Given the description of an element on the screen output the (x, y) to click on. 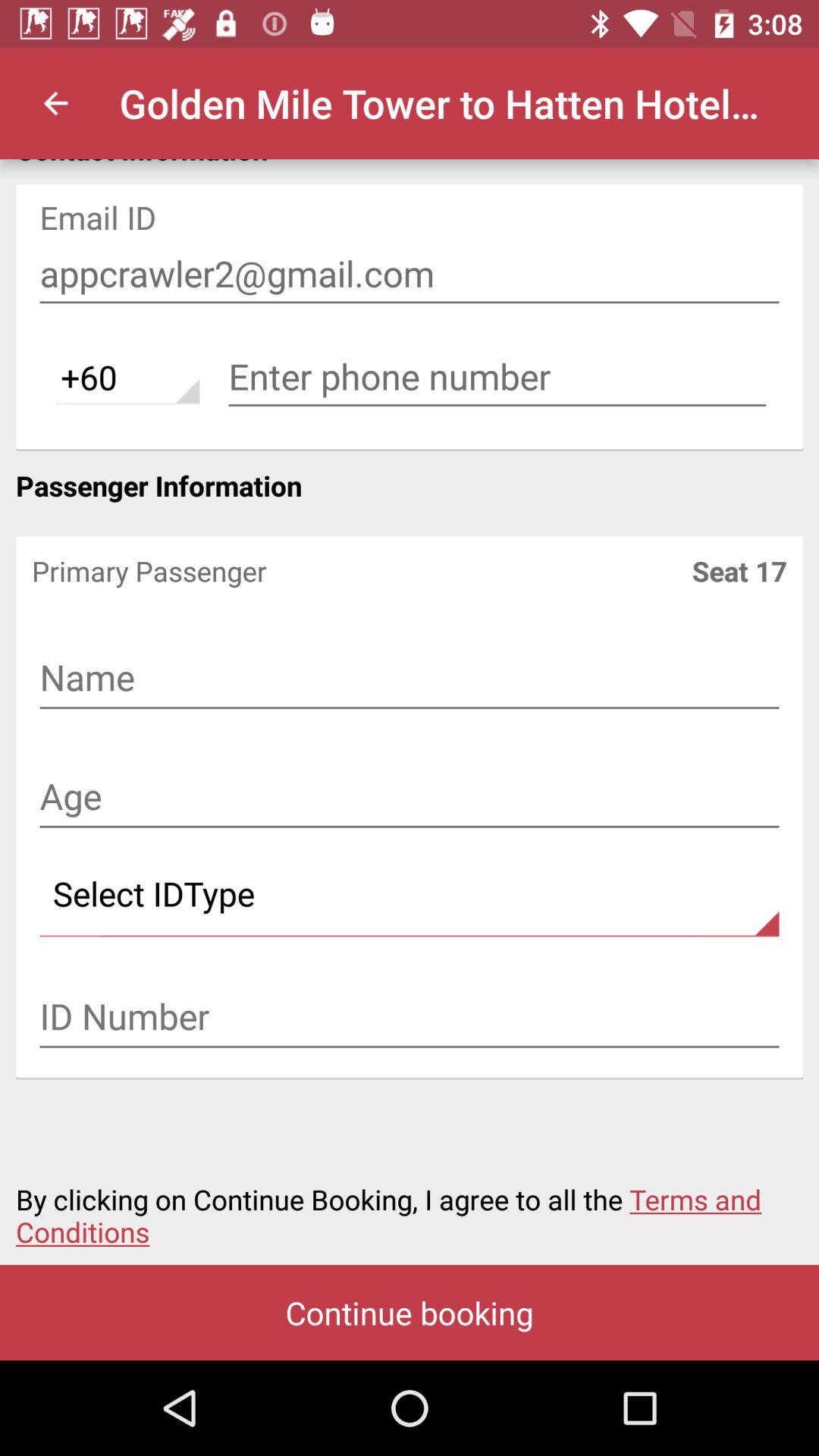
input text field (409, 1018)
